Given the description of an element on the screen output the (x, y) to click on. 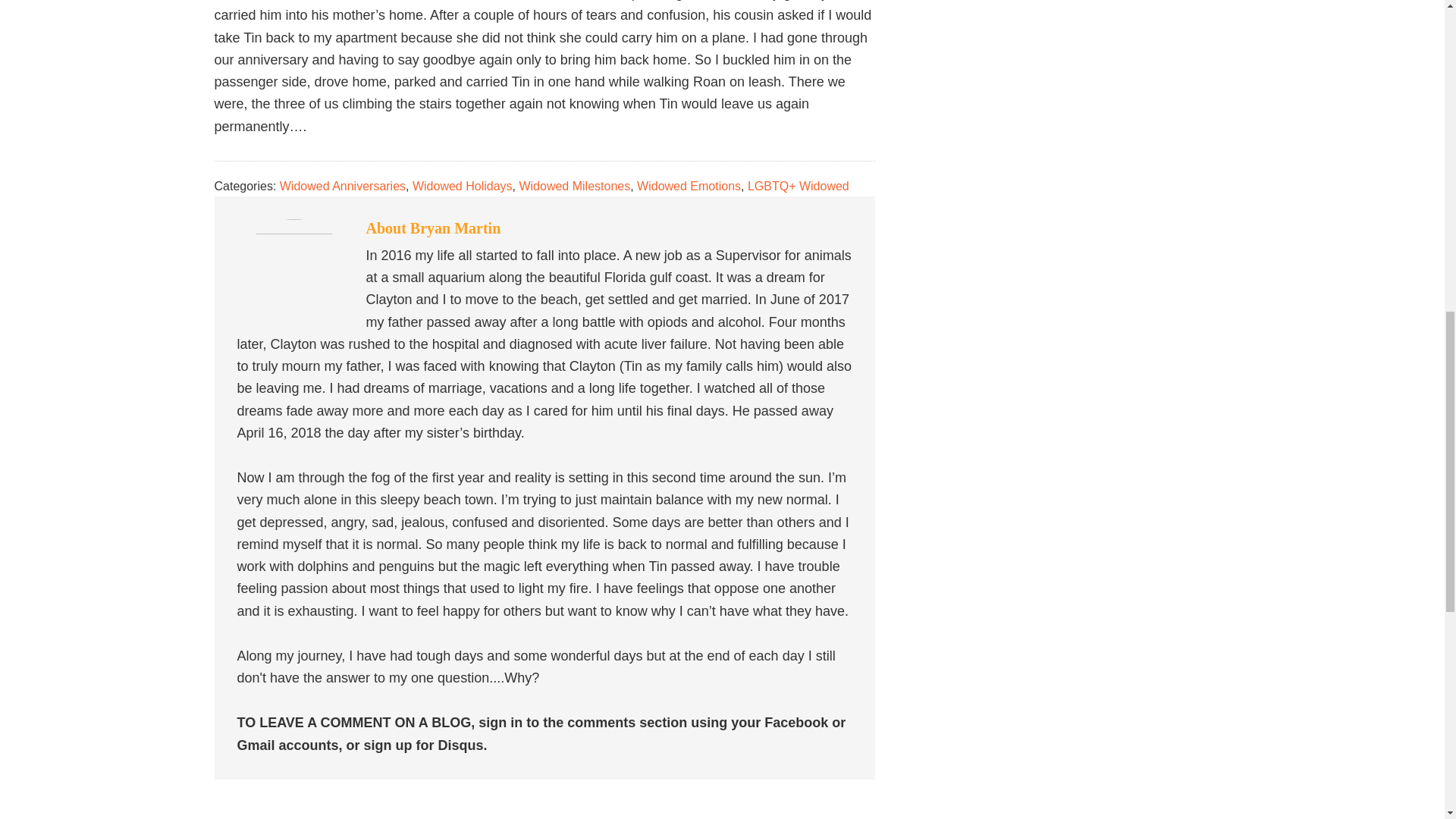
Widowed Milestones (574, 185)
Widowed Anniversaries (342, 185)
Widowed Emotions (689, 185)
Widowed Holidays (462, 185)
